Given the description of an element on the screen output the (x, y) to click on. 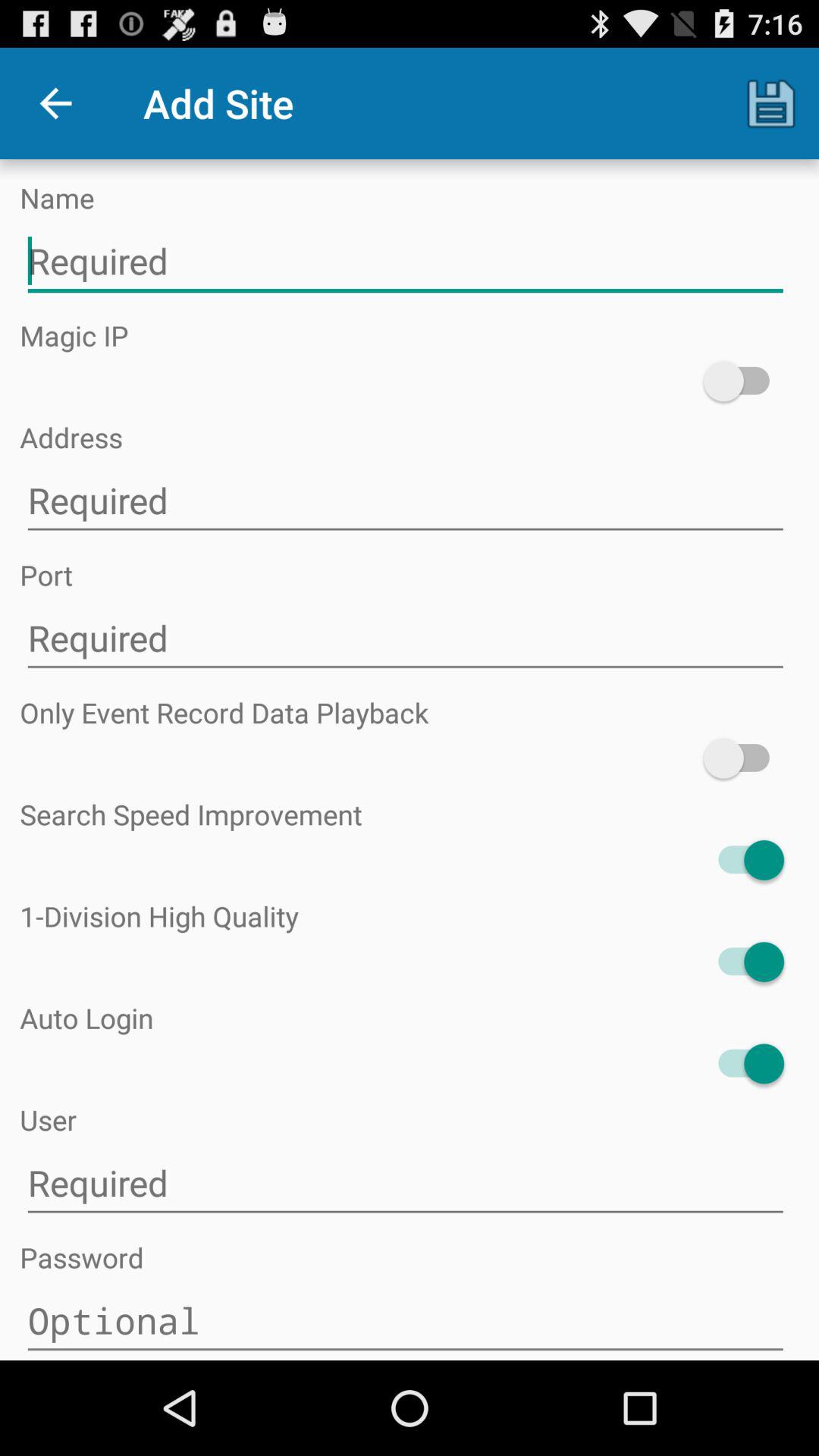
turn on (743, 758)
